Given the description of an element on the screen output the (x, y) to click on. 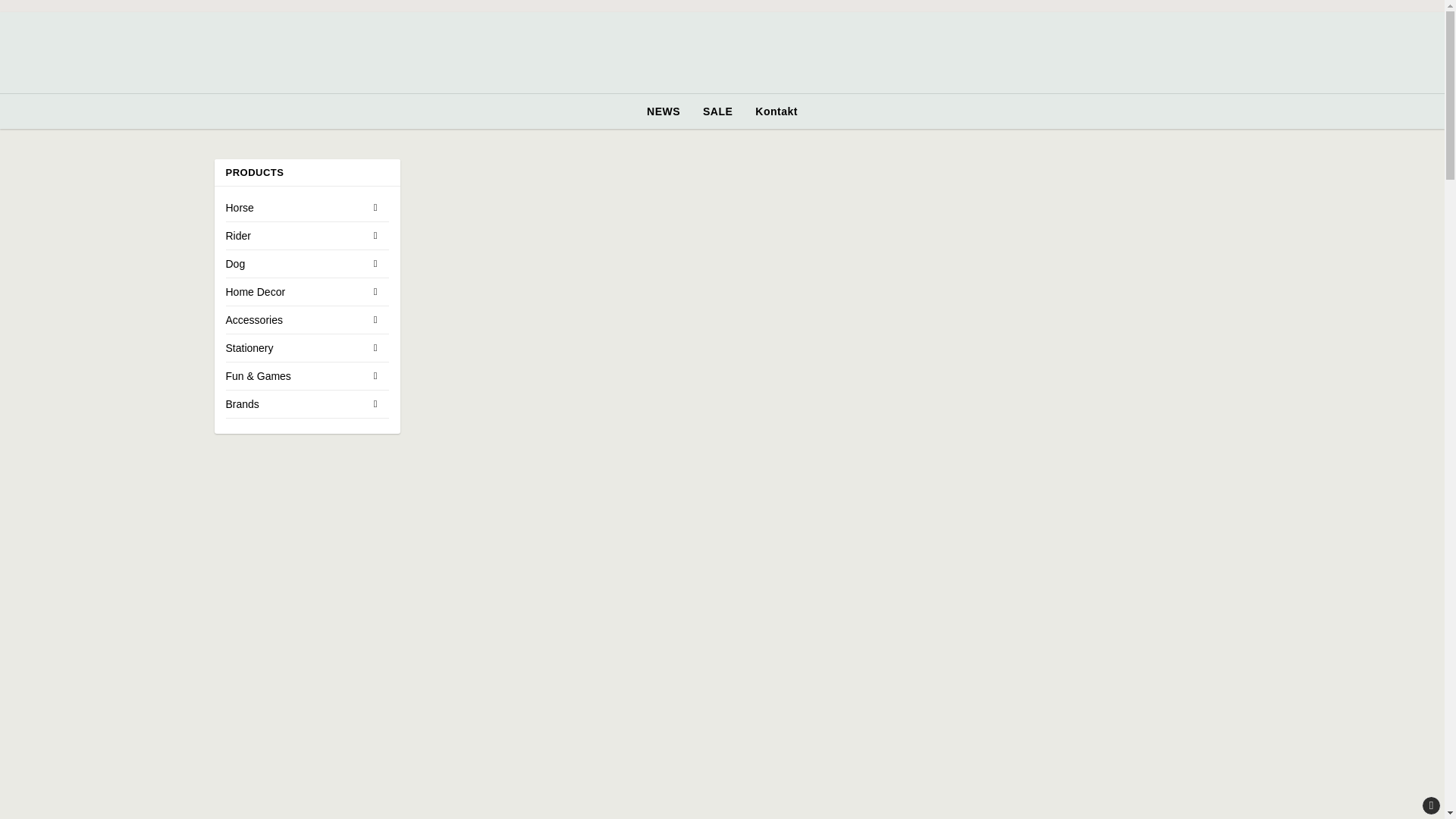
Rider (293, 235)
Dog (293, 263)
Brands (293, 403)
Kontakt (776, 111)
NEWS (662, 111)
Horse (293, 207)
SALE (717, 111)
Stationery (293, 347)
Accessories (293, 319)
Home Decor (293, 291)
